Given the description of an element on the screen output the (x, y) to click on. 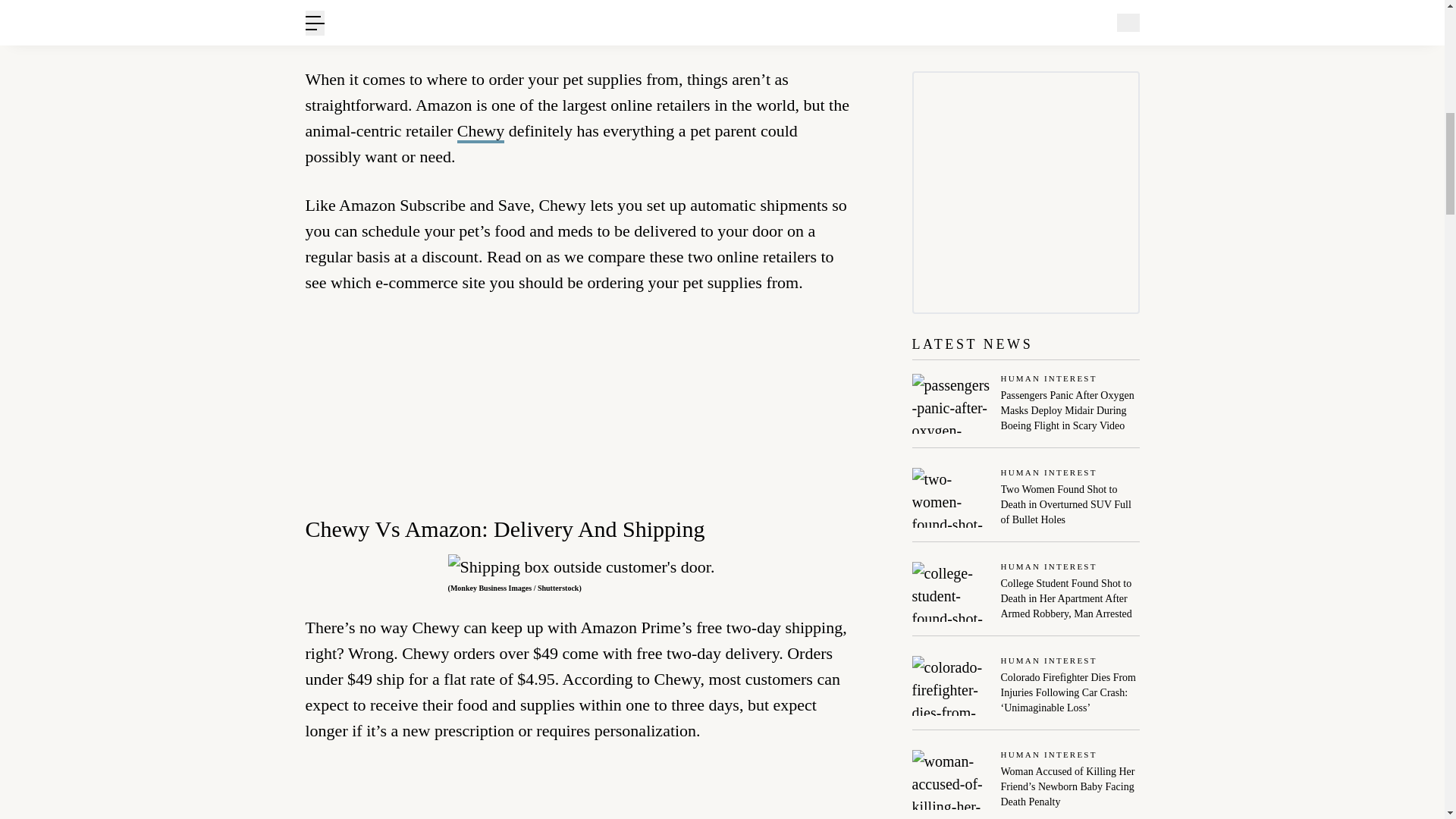
Human Interest (1070, 378)
Chewy (480, 132)
Human Interest (1070, 473)
